Given the description of an element on the screen output the (x, y) to click on. 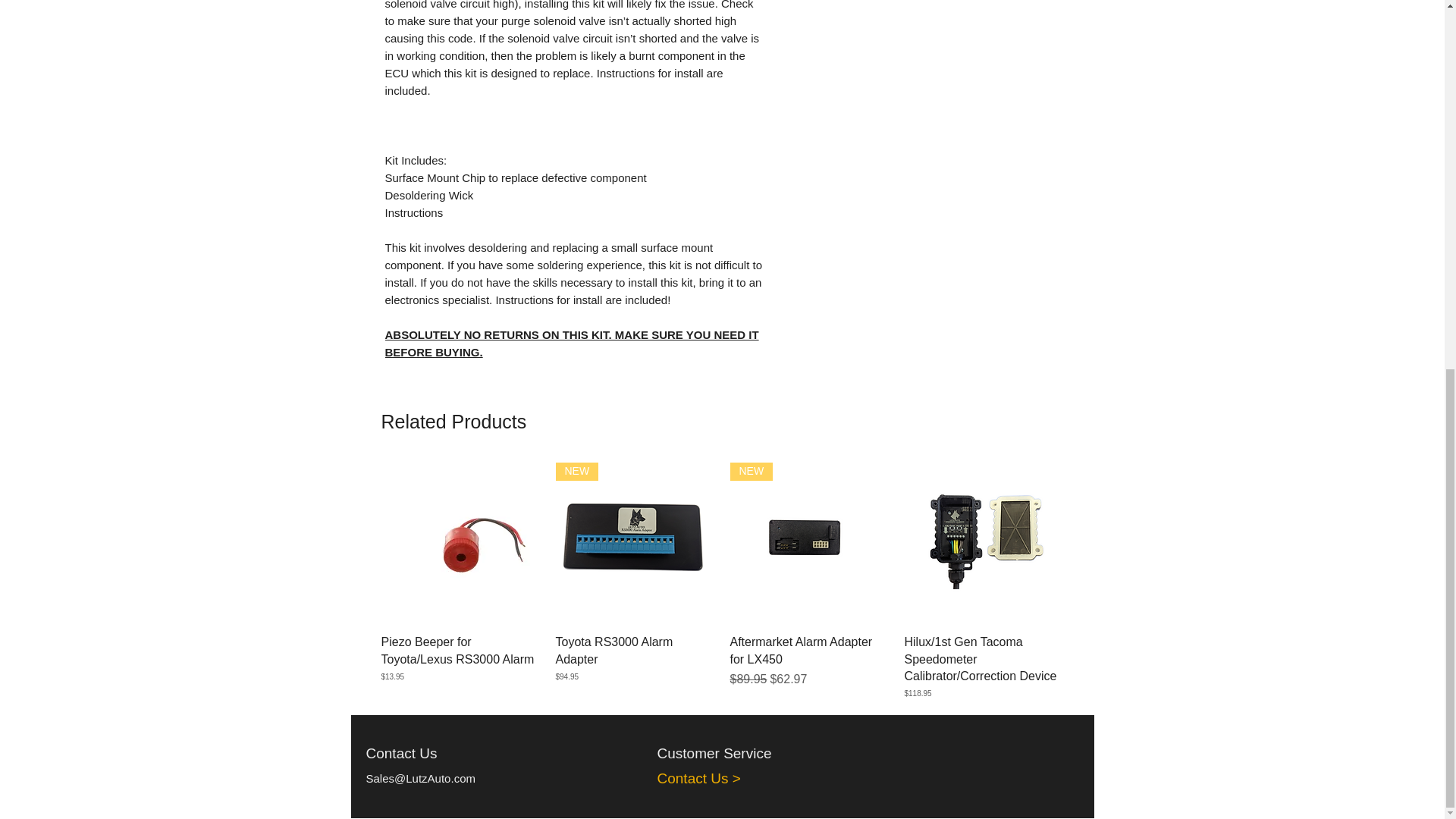
NEW (634, 541)
NEW (808, 541)
